Given the description of an element on the screen output the (x, y) to click on. 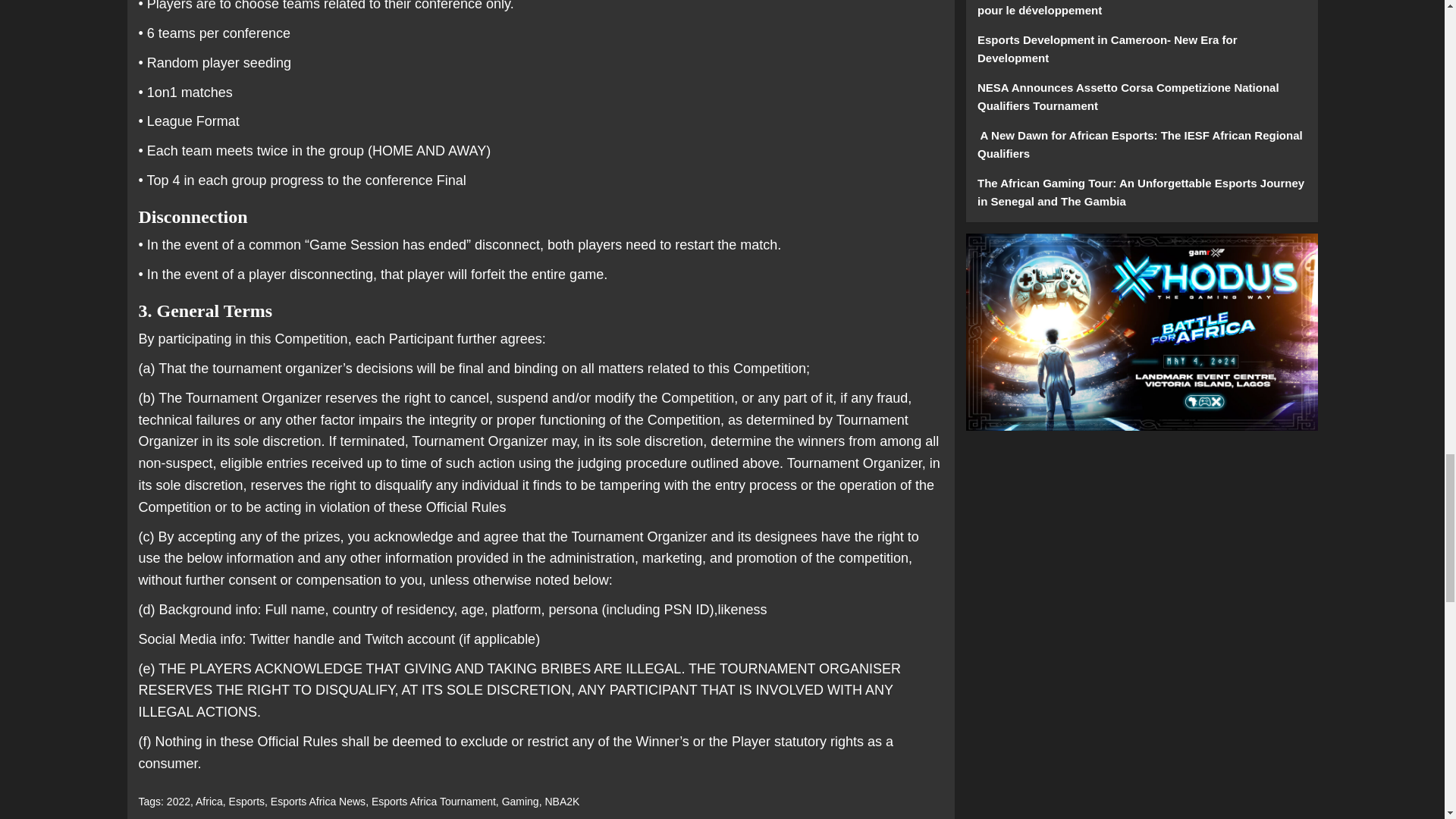
Esports Africa Tournament (433, 801)
2022 (178, 801)
Esports Africa News (317, 801)
Gaming (520, 801)
NBA2K (561, 801)
Esports (246, 801)
Africa (208, 801)
